Given the description of an element on the screen output the (x, y) to click on. 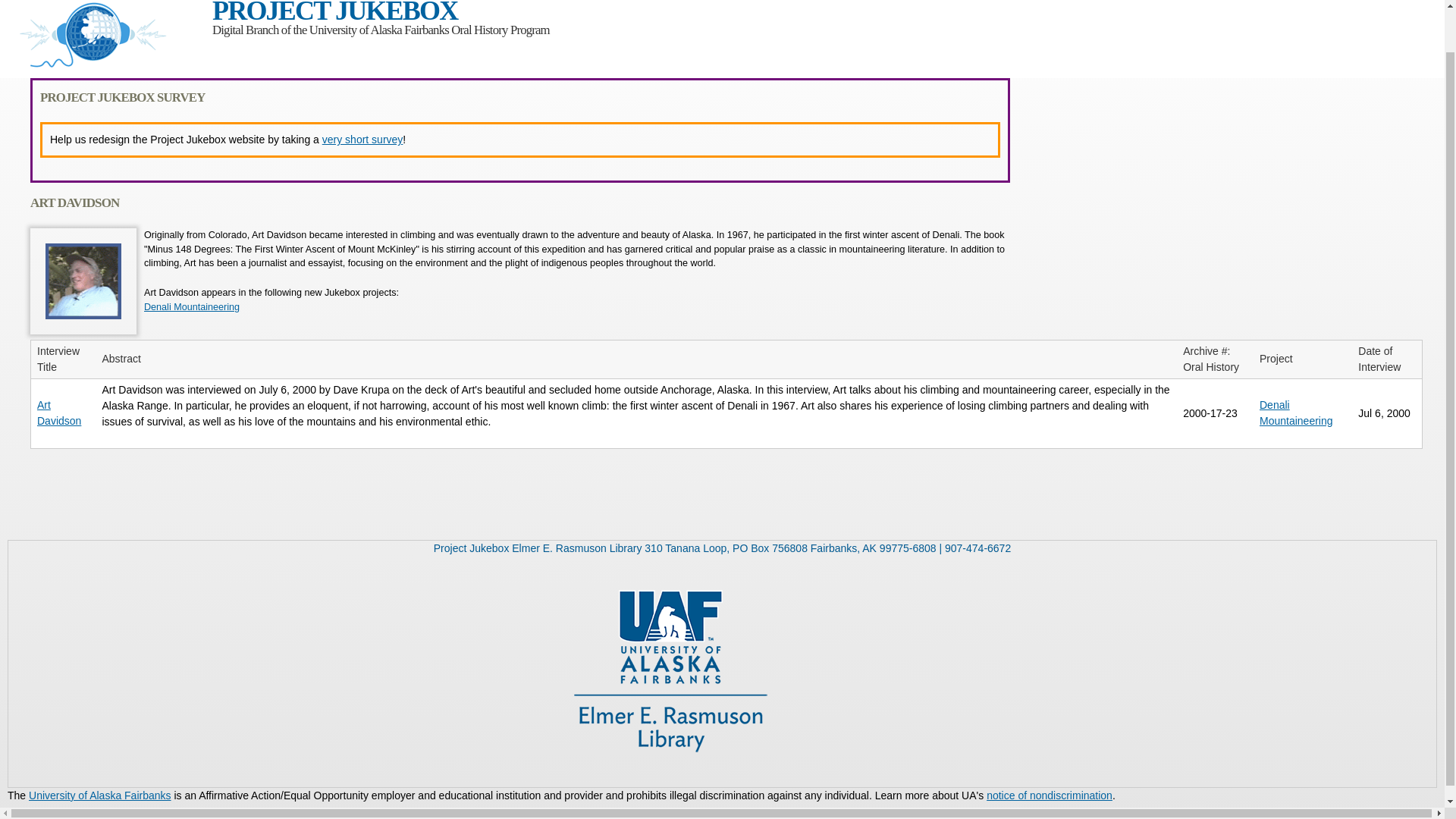
very short survey (362, 139)
Denali Mountaineering (192, 307)
University of Alaska Fairbanks (100, 795)
Home (334, 12)
Art Davidson (59, 412)
PROJECT JUKEBOX (334, 12)
Art Davidson (83, 281)
notice of nondiscrimination (1049, 795)
Project Jukebox (101, 69)
Denali Mountaineering (1296, 412)
